Given the description of an element on the screen output the (x, y) to click on. 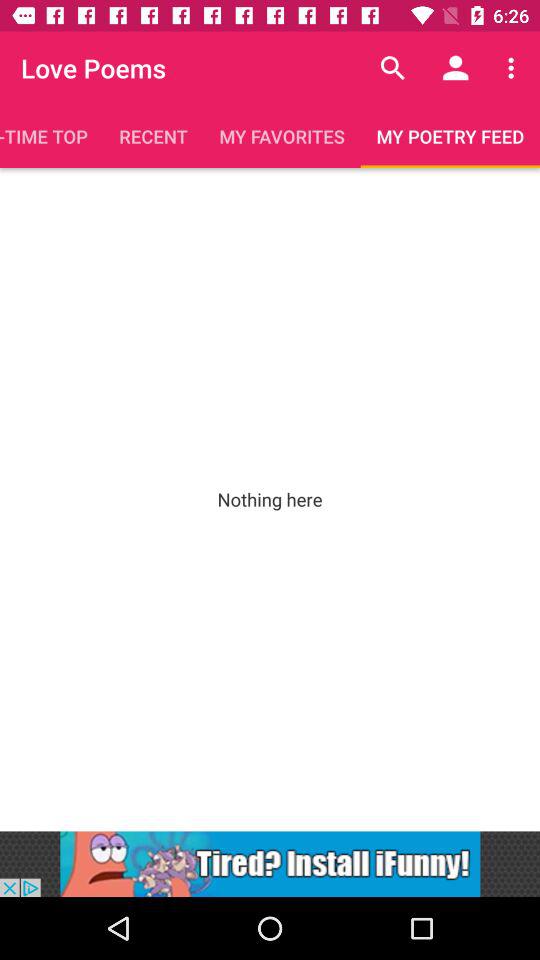
to go cease (270, 864)
